Given the description of an element on the screen output the (x, y) to click on. 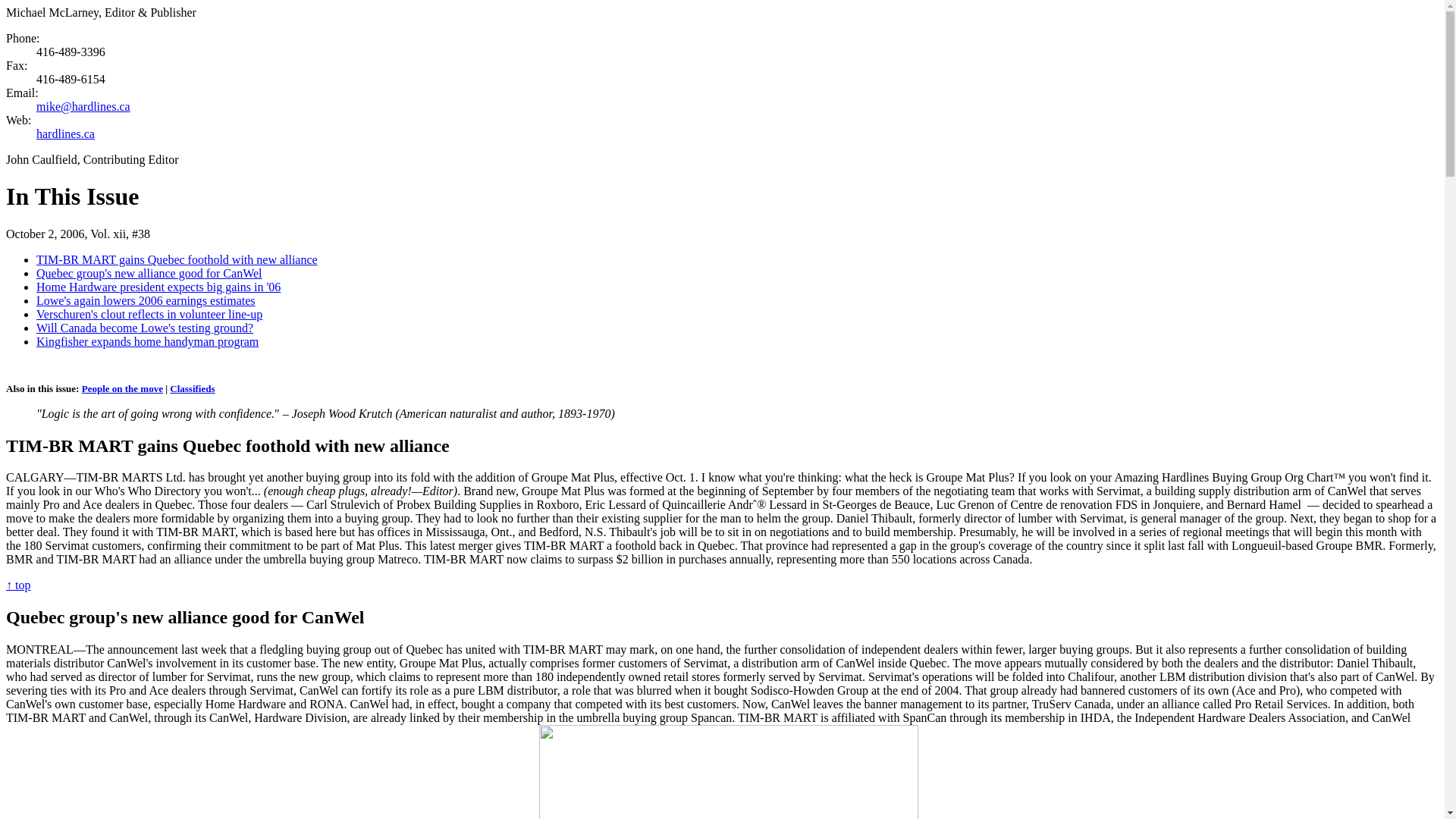
Home Hardware president expects big gains in '06 (158, 286)
Will Canada become Lowe's testing ground? (144, 327)
Classifieds (192, 388)
People on the move (122, 388)
return to top (17, 584)
Quebec group's new alliance good for CanWel (149, 273)
Verschuren's clout reflects in volunteer line-up (149, 314)
hardlines.ca (65, 133)
Lowe's again lowers 2006 earnings estimates (146, 300)
TIM-BR MART gains Quebec foothold with new alliance (176, 259)
Kingfisher expands home handyman program (147, 341)
